Given the description of an element on the screen output the (x, y) to click on. 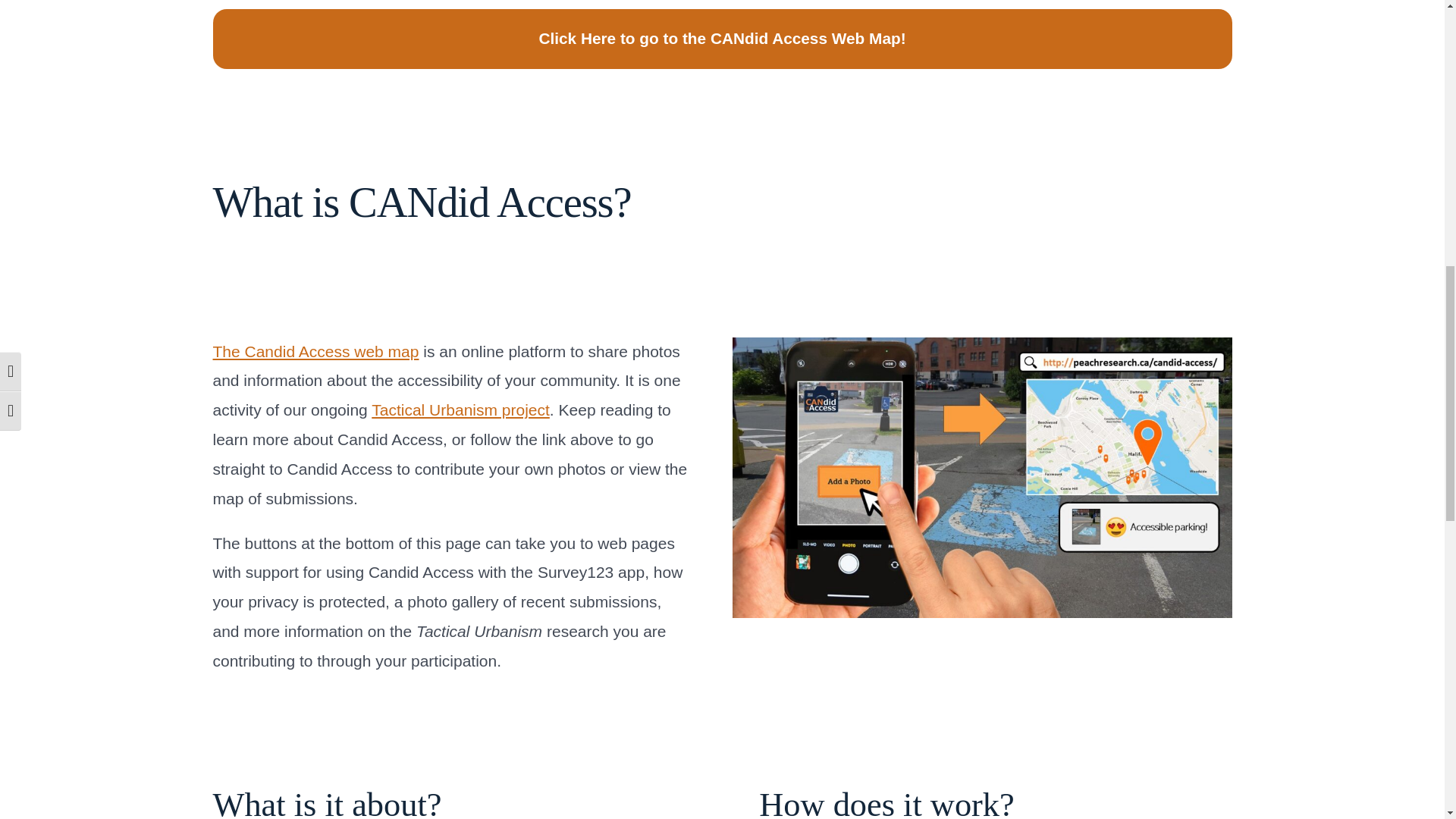
Click Here to go to the CANdid Access Web Map! (721, 39)
The Candid Access web map (315, 351)
Tactical Urbanism project (460, 409)
